Given the description of an element on the screen output the (x, y) to click on. 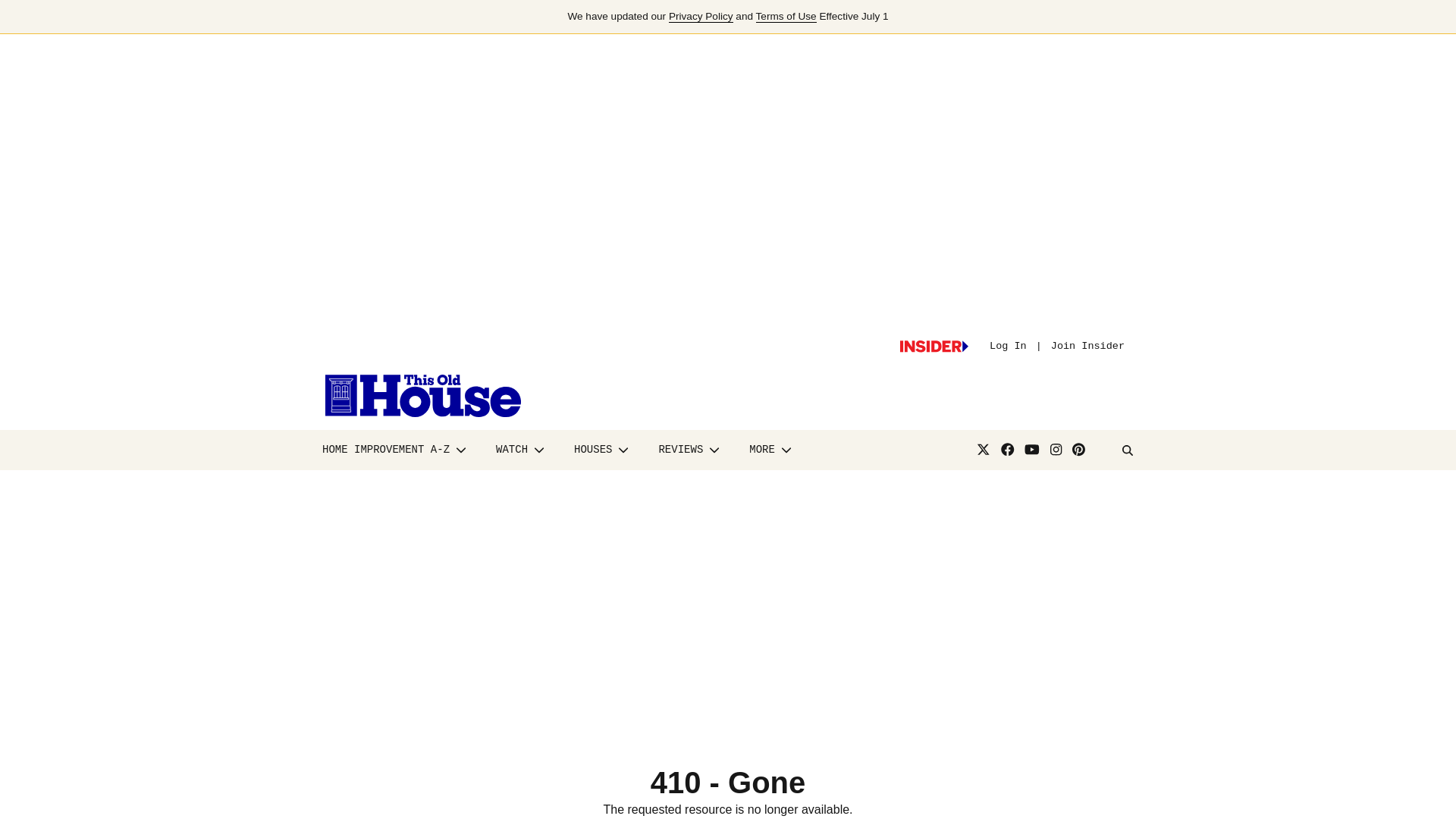
Join Insider (1087, 346)
Terms of Use (785, 16)
Privacy Policy (700, 16)
Log In (1008, 346)
Log in or sign up (933, 346)
